Given the description of an element on the screen output the (x, y) to click on. 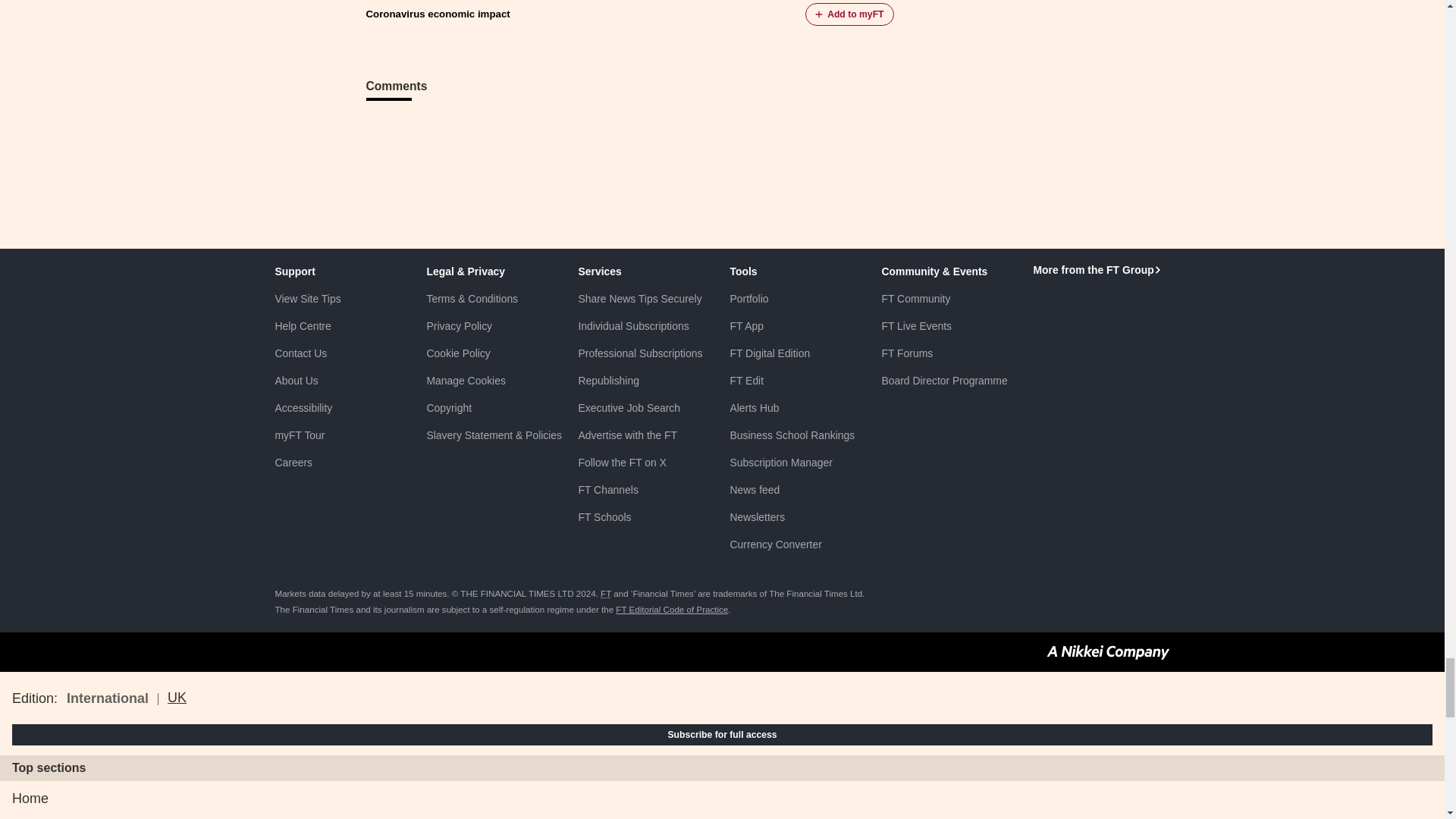
Add Coronavirus economic impact to myFT (849, 14)
Financial Times (605, 593)
